Given the description of an element on the screen output the (x, y) to click on. 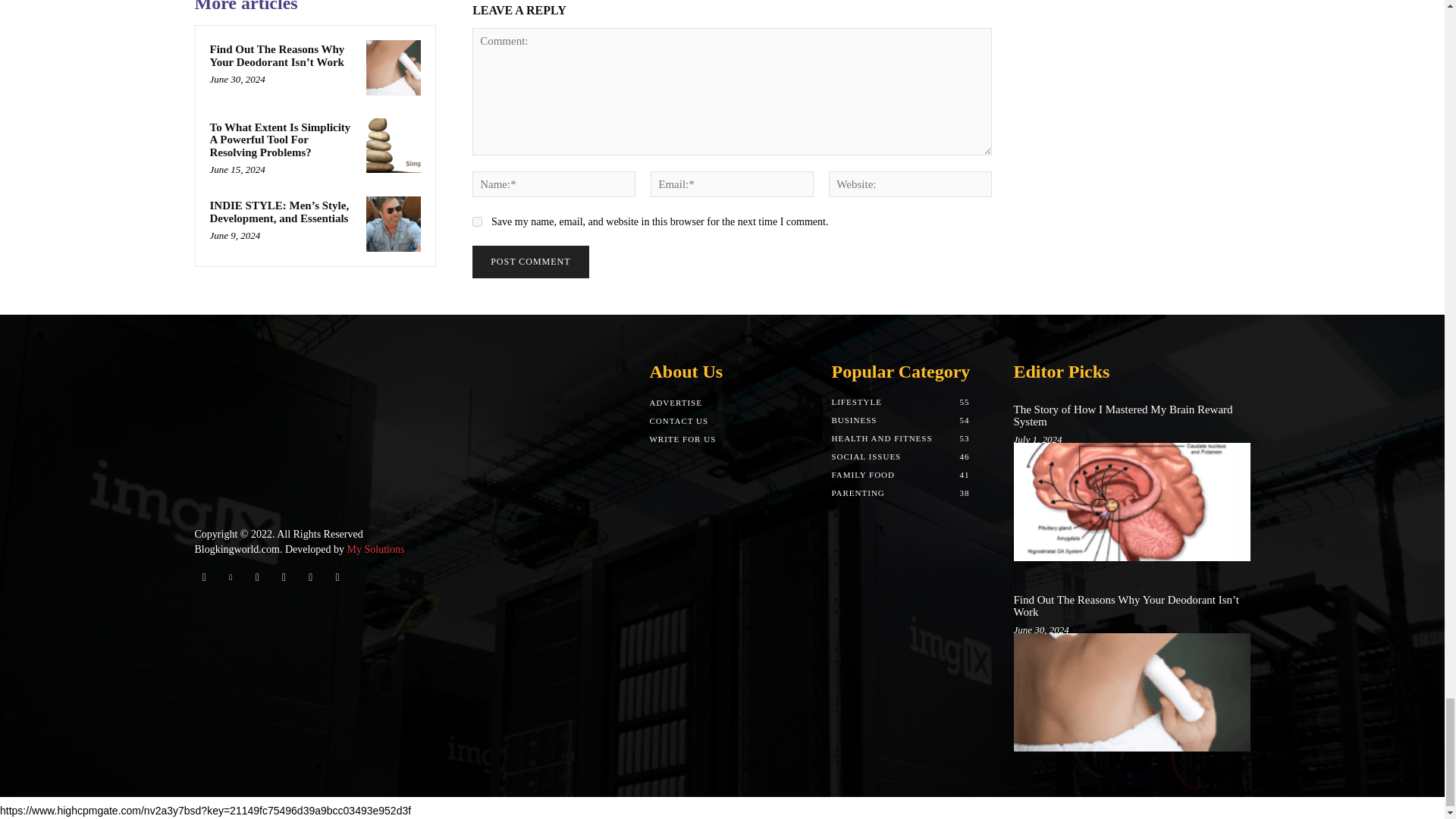
yes (476, 221)
Post Comment (529, 261)
